Given the description of an element on the screen output the (x, y) to click on. 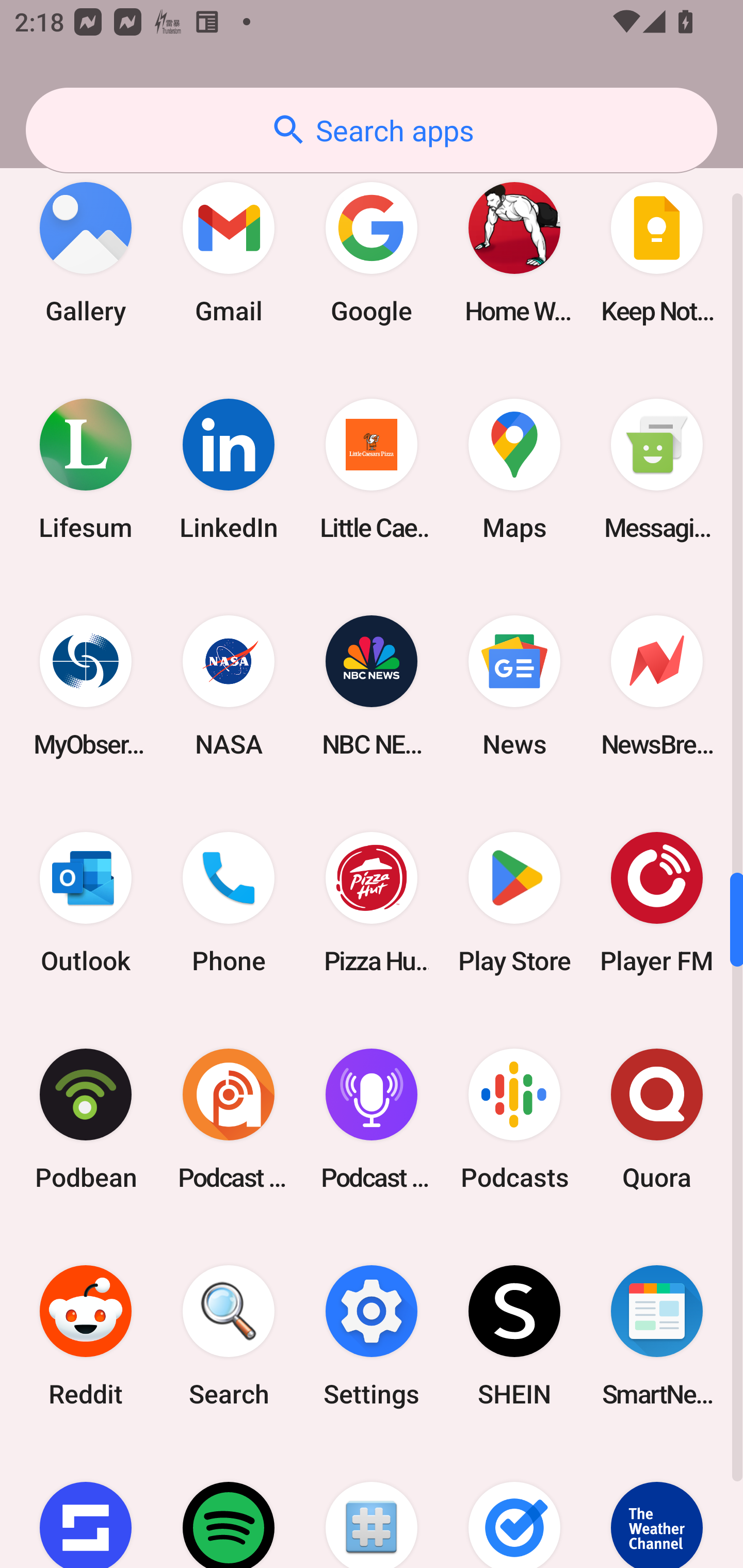
  Search apps (371, 130)
Gallery (85, 252)
Gmail (228, 252)
Google (371, 252)
Home Workout (514, 252)
Keep Notes (656, 252)
Lifesum (85, 468)
LinkedIn (228, 468)
Little Caesars Pizza (371, 468)
Maps (514, 468)
Messaging (656, 468)
MyObservatory (85, 685)
NASA (228, 685)
NBC NEWS (371, 685)
News (514, 685)
NewsBreak (656, 685)
Outlook (85, 902)
Phone (228, 902)
Pizza Hut HK & Macau (371, 902)
Play Store (514, 902)
Player FM (656, 902)
Podbean (85, 1119)
Podcast Addict (228, 1119)
Podcast Player (371, 1119)
Podcasts (514, 1119)
Quora (656, 1119)
Reddit (85, 1335)
Search (228, 1335)
Settings (371, 1335)
SHEIN (514, 1335)
SmartNews (656, 1335)
Sofascore (85, 1506)
Spotify (228, 1506)
Superuser (371, 1506)
Tasks (514, 1506)
The Weather Channel (656, 1506)
